Given the description of an element on the screen output the (x, y) to click on. 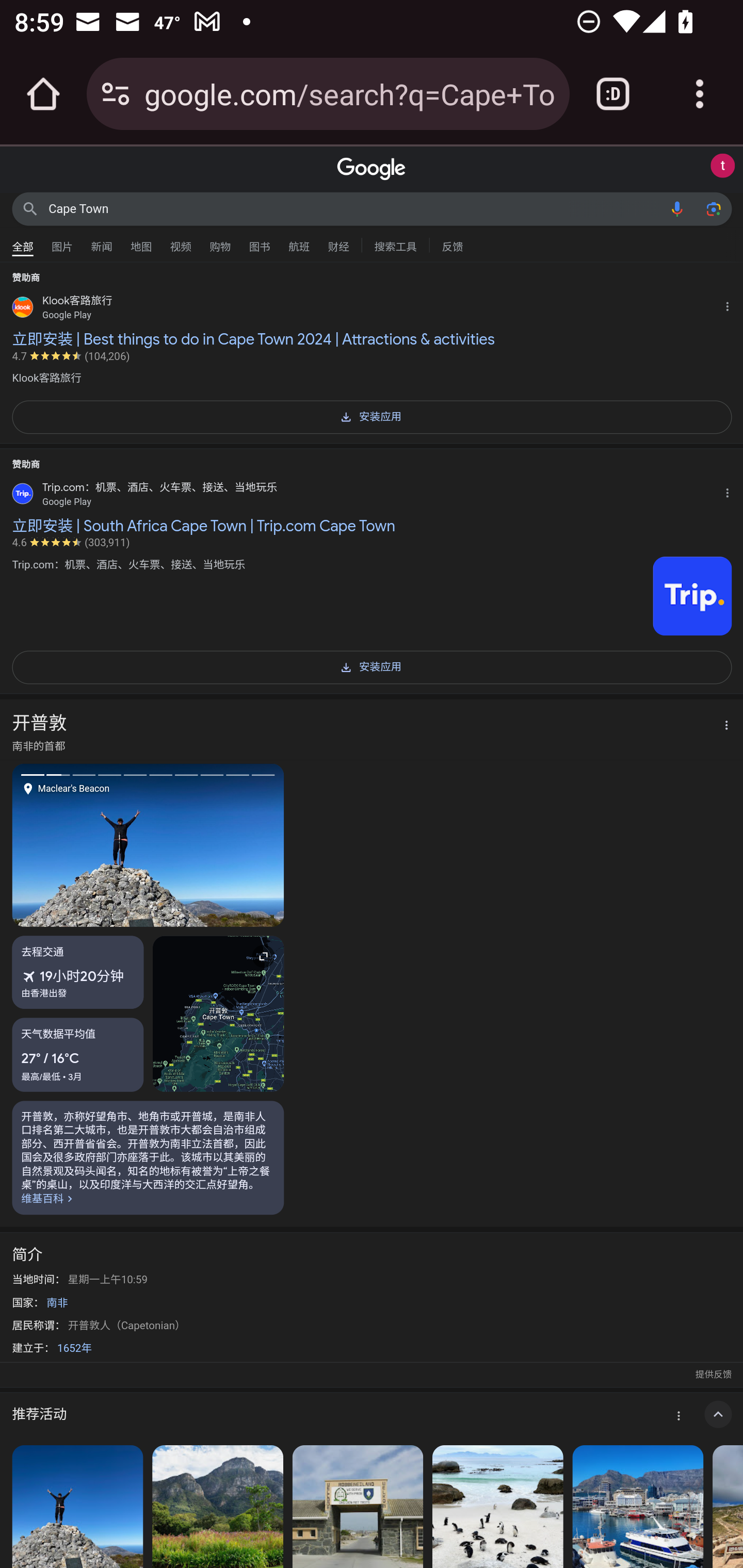
Open the home page (43, 93)
Connection is secure (115, 93)
Switch or close tabs (612, 93)
Customize and control Google Chrome (699, 93)
Google (371, 169)
Google 账号： test appium (testappium002@gmail.com) (722, 165)
Google 搜索 (29, 208)
使用拍照功能或照片进行搜索 (712, 208)
Cape Town (353, 208)
图片 (62, 241)
新闻 (101, 241)
地图 (141, 241)
视频 (180, 241)
购物 (219, 241)
图书 (259, 241)
航班 (299, 241)
财经 (338, 241)
搜索工具 (395, 244)
反馈 (452, 244)
为什么会显示该广告？ (731, 303)
安装应用 (371, 415)
为什么会显示该广告？ (731, 490)
立即安装 | South Africa Cape Town | Trip.com Cape Town (371, 525)
图片来自 google.com (691, 596)
安装应用 (371, 666)
更多选项 (720, 726)
去程交通 19小时20分钟 乘坐飞机 由香港出發 (77, 971)
展开地图 (217, 1012)
天气数据平均值 27° / 16°C 最高/最低 • 3月 (77, 1054)
%E9%96%8B%E6%99%AE%E6%95%A6 (147, 1157)
南非 (57, 1302)
1652年 (74, 1348)
提供反馈 (713, 1374)
推荐活动 … 开普敦的推荐活动 (371, 1414)
Maclear's Beacon 评分为 4.7 星（最高 5 星）， (530) 山峰 (77, 1506)
罗本岛 评分为 4.3 星（最高 5 星）， (493) 岛 (357, 1506)
V&A Waterfront 评分为 4.6 星（最高 5 星）， (9.8万) 购物中心 免费 (637, 1506)
